Given the description of an element on the screen output the (x, y) to click on. 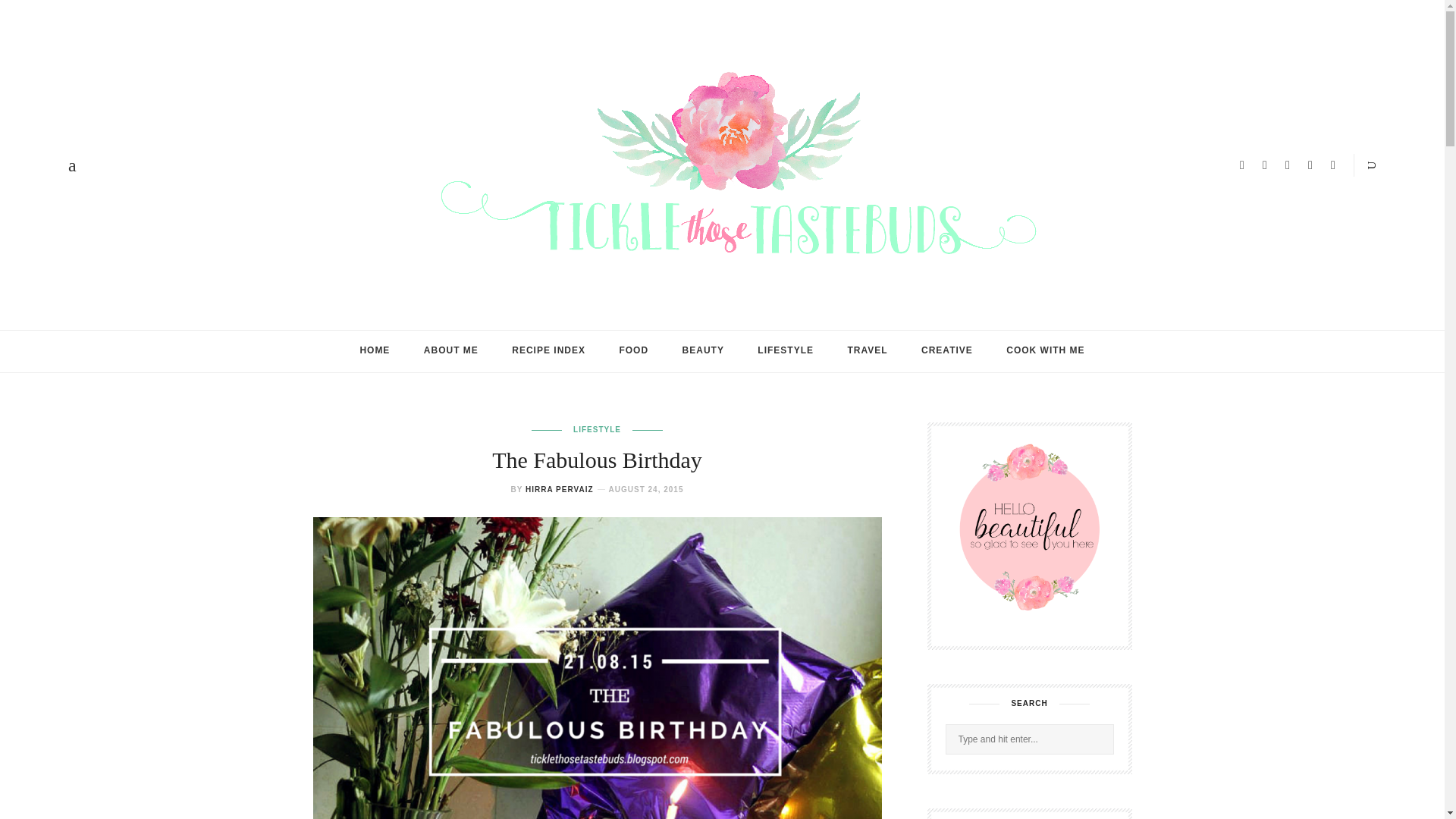
LIFESTYLE (785, 350)
HOME (373, 350)
TRAVEL (866, 350)
Tickle Those Taste Buds (721, 164)
LIFESTYLE (597, 429)
ABOUT ME (451, 350)
CREATIVE (946, 350)
BEAUTY (702, 350)
HIRRA PERVAIZ (559, 489)
Posts by Hirra Pervaiz (559, 489)
